Given the description of an element on the screen output the (x, y) to click on. 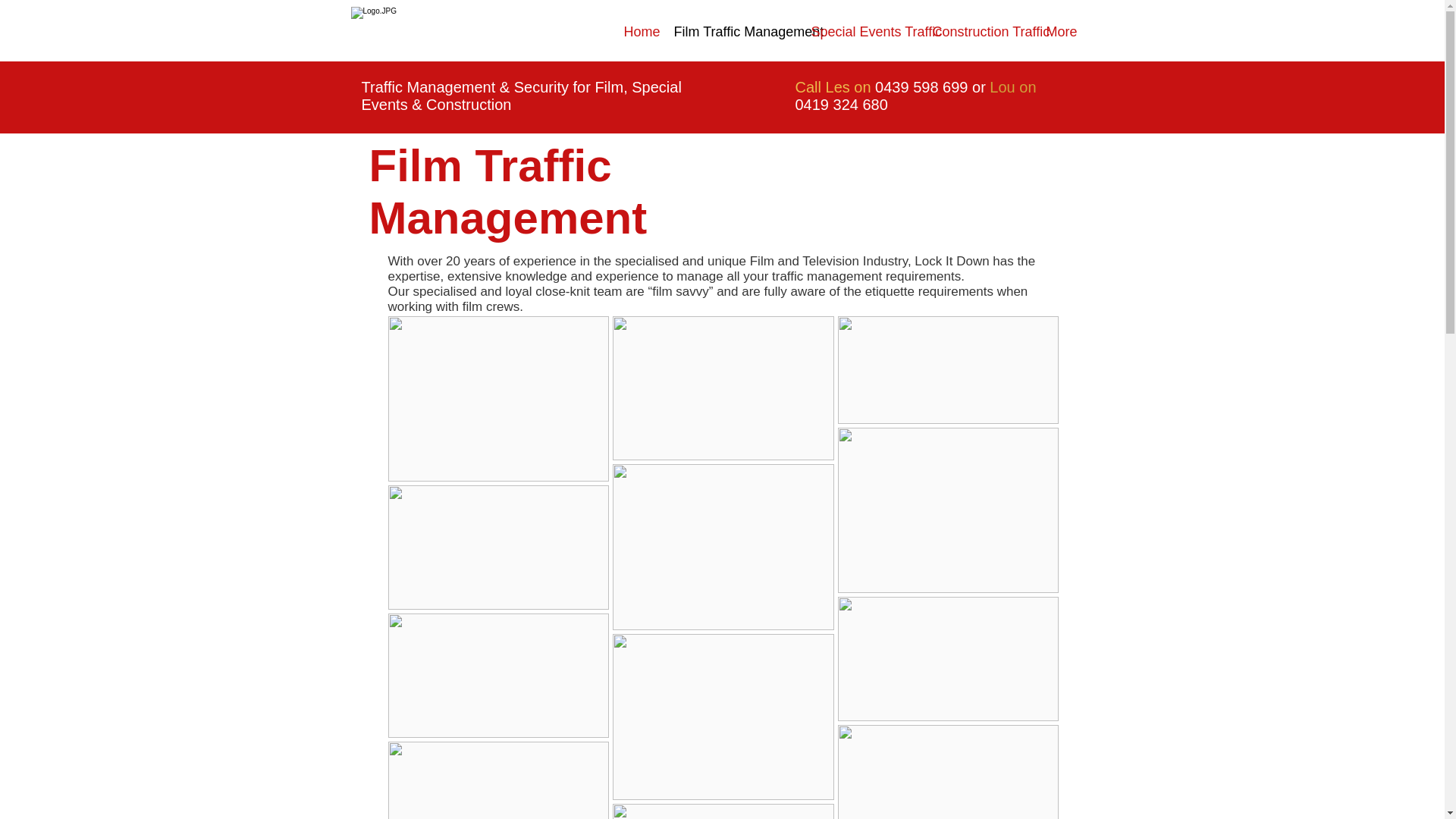
Special Events Traffic (859, 31)
Construction Traffic (976, 31)
Film Traffic Management (730, 31)
Home (637, 31)
